Given the description of an element on the screen output the (x, y) to click on. 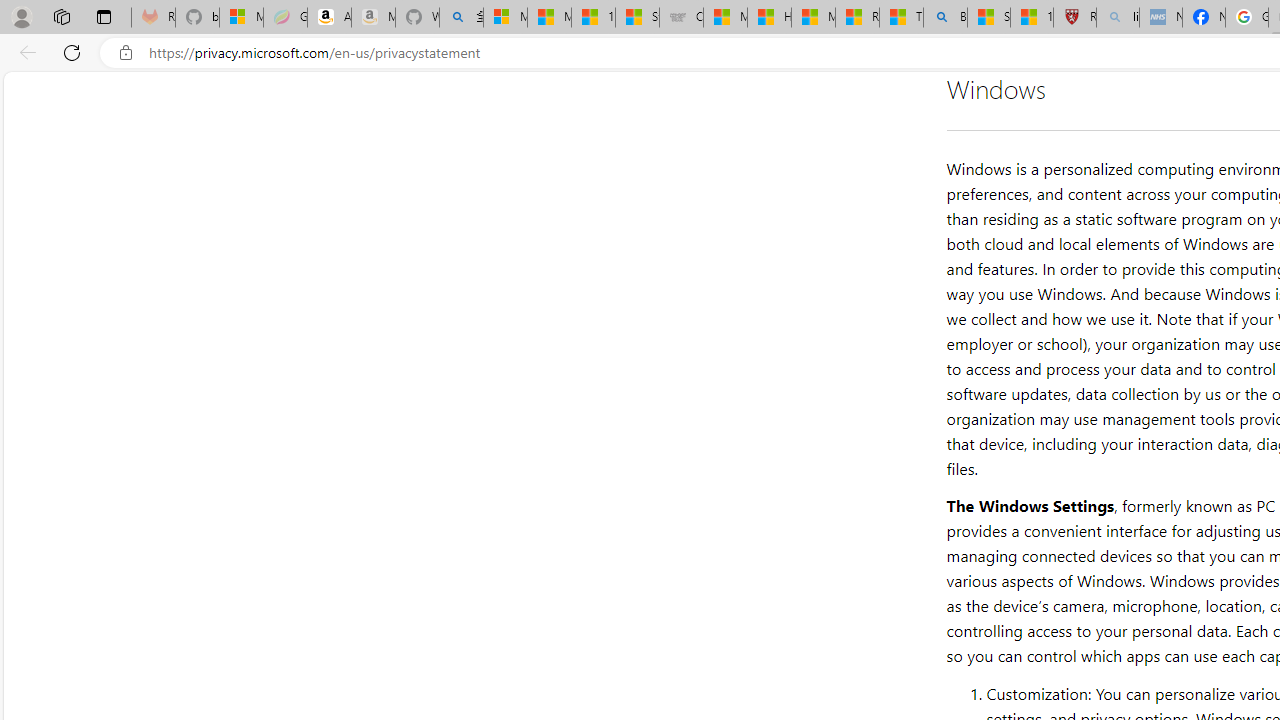
Science - MSN (988, 17)
12 Popular Science Lies that Must be Corrected (1032, 17)
Robert H. Shmerling, MD - Harvard Health (1074, 17)
Bing (945, 17)
How I Got Rid of Microsoft Edge's Unnecessary Features (769, 17)
